Given the description of an element on the screen output the (x, y) to click on. 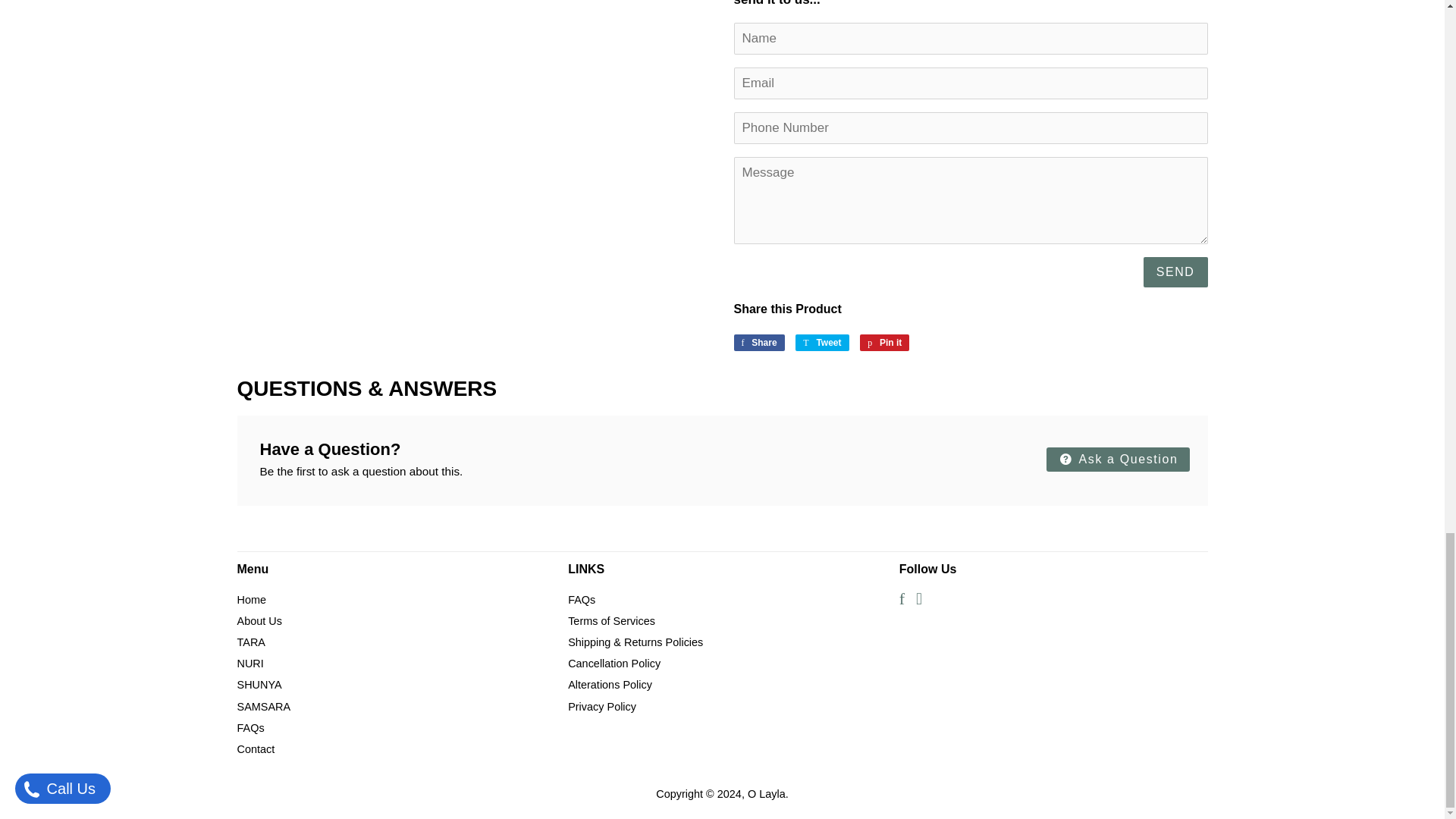
O Layla on Facebook (901, 600)
Send (821, 342)
Tweet on Twitter (1175, 272)
O Layla on Instagram (821, 342)
Pin on Pinterest (758, 342)
Send (918, 600)
Ask a Question (884, 342)
Share on Facebook (884, 342)
